Given the description of an element on the screen output the (x, y) to click on. 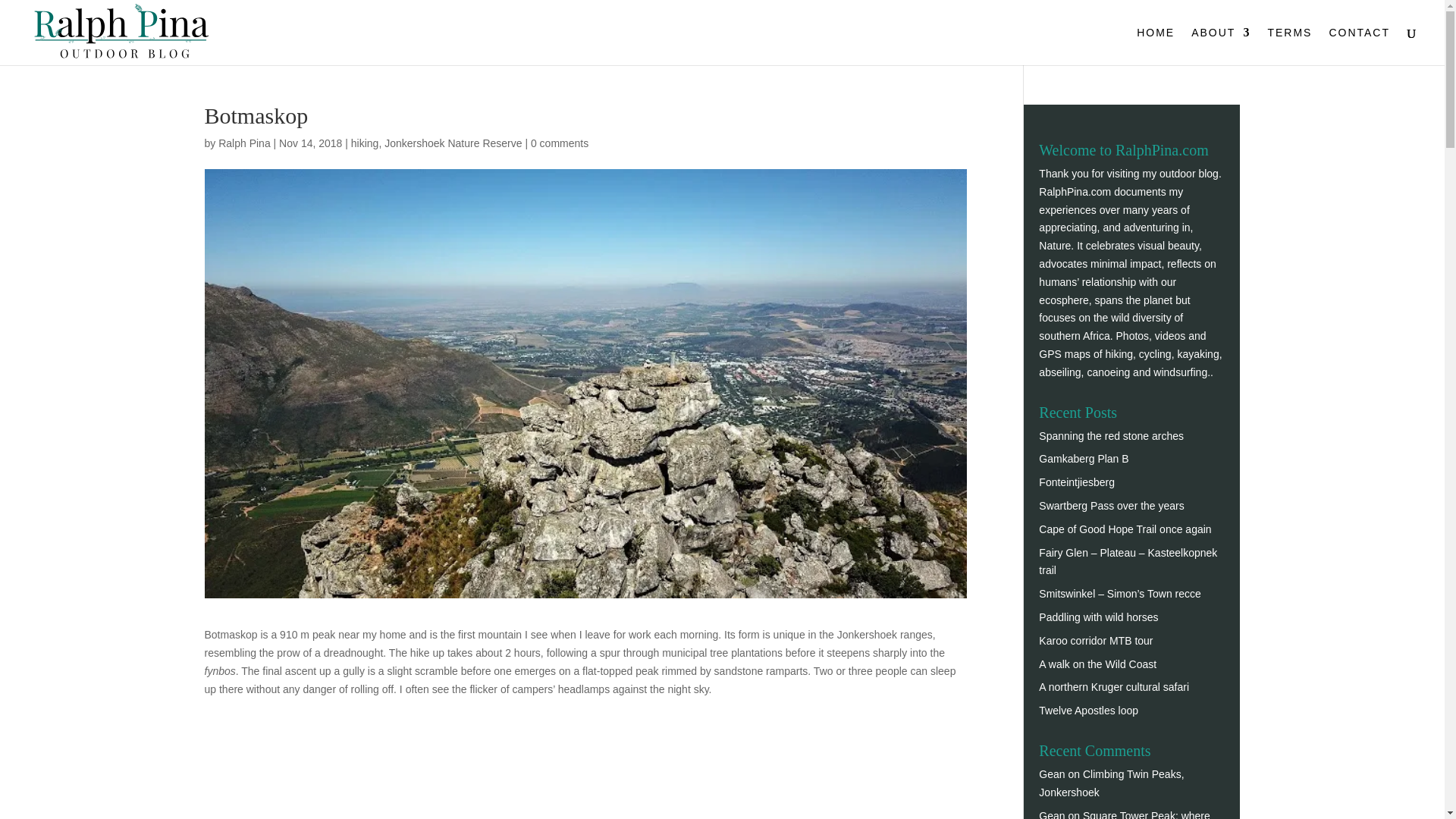
Jonkershoek Nature Reserve (452, 143)
ABOUT (1220, 46)
CONTACT (1358, 46)
Gamkaberg Plan B (1083, 458)
Swartberg Pass over the years (1111, 505)
Cape of Good Hope Trail once again (1125, 529)
RalphPina.com (1074, 191)
Spanning the red stone arches (1111, 435)
TERMS (1288, 46)
Ralph Pina (244, 143)
Paddling with wild horses (1098, 616)
HOME (1155, 46)
0 comments (559, 143)
Posts by Ralph Pina (244, 143)
Fonteintjiesberg (1077, 481)
